Given the description of an element on the screen output the (x, y) to click on. 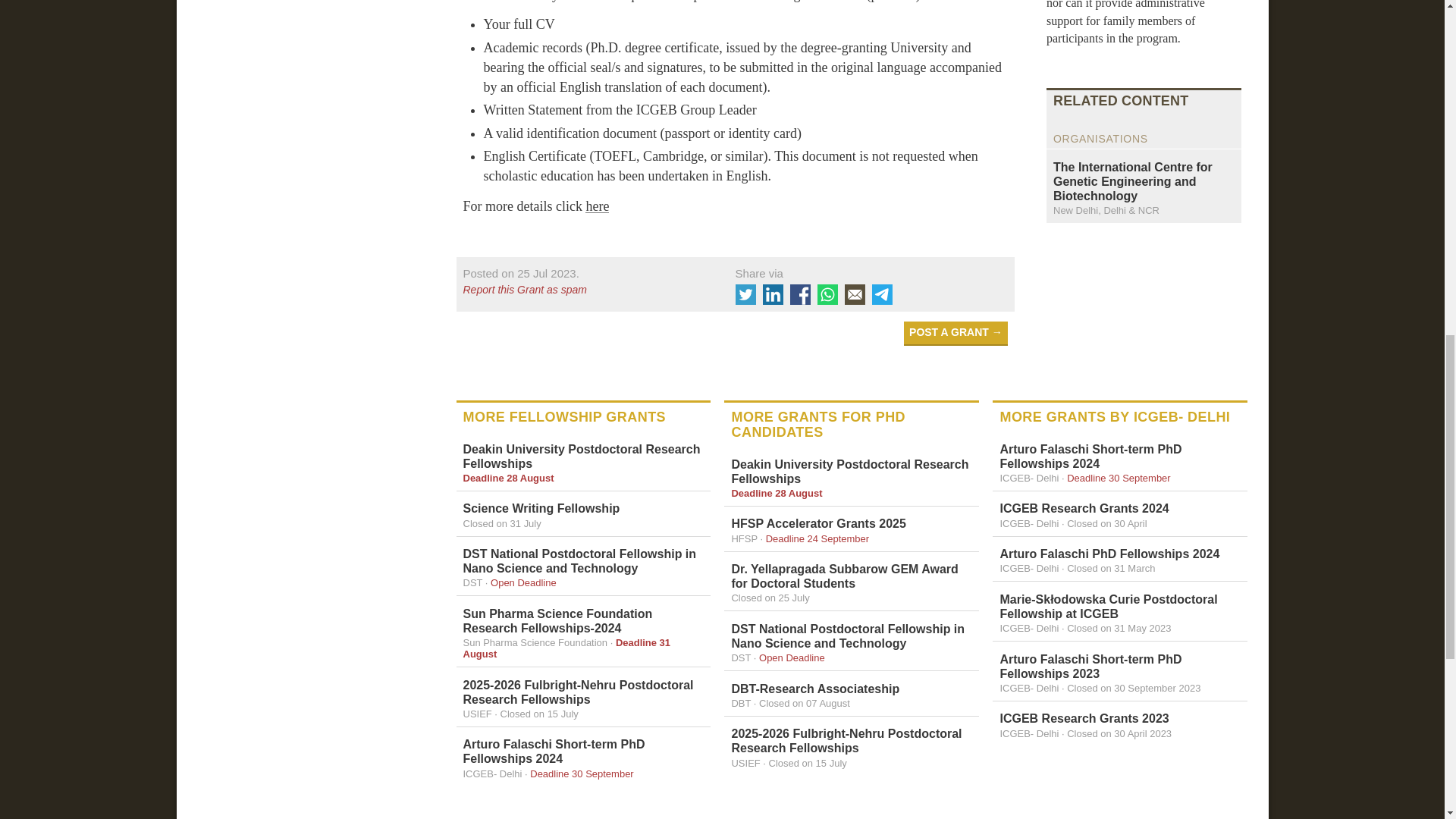
here (596, 206)
31 August 2024 (566, 648)
Email (854, 294)
Telegram (882, 294)
Report this Grant as spam (585, 290)
LinkedIn (772, 294)
31 July 2024 (501, 523)
Facebook (800, 294)
Posted on 25 Jul 2023. (520, 273)
15 July 2024 (539, 713)
